Given the description of an element on the screen output the (x, y) to click on. 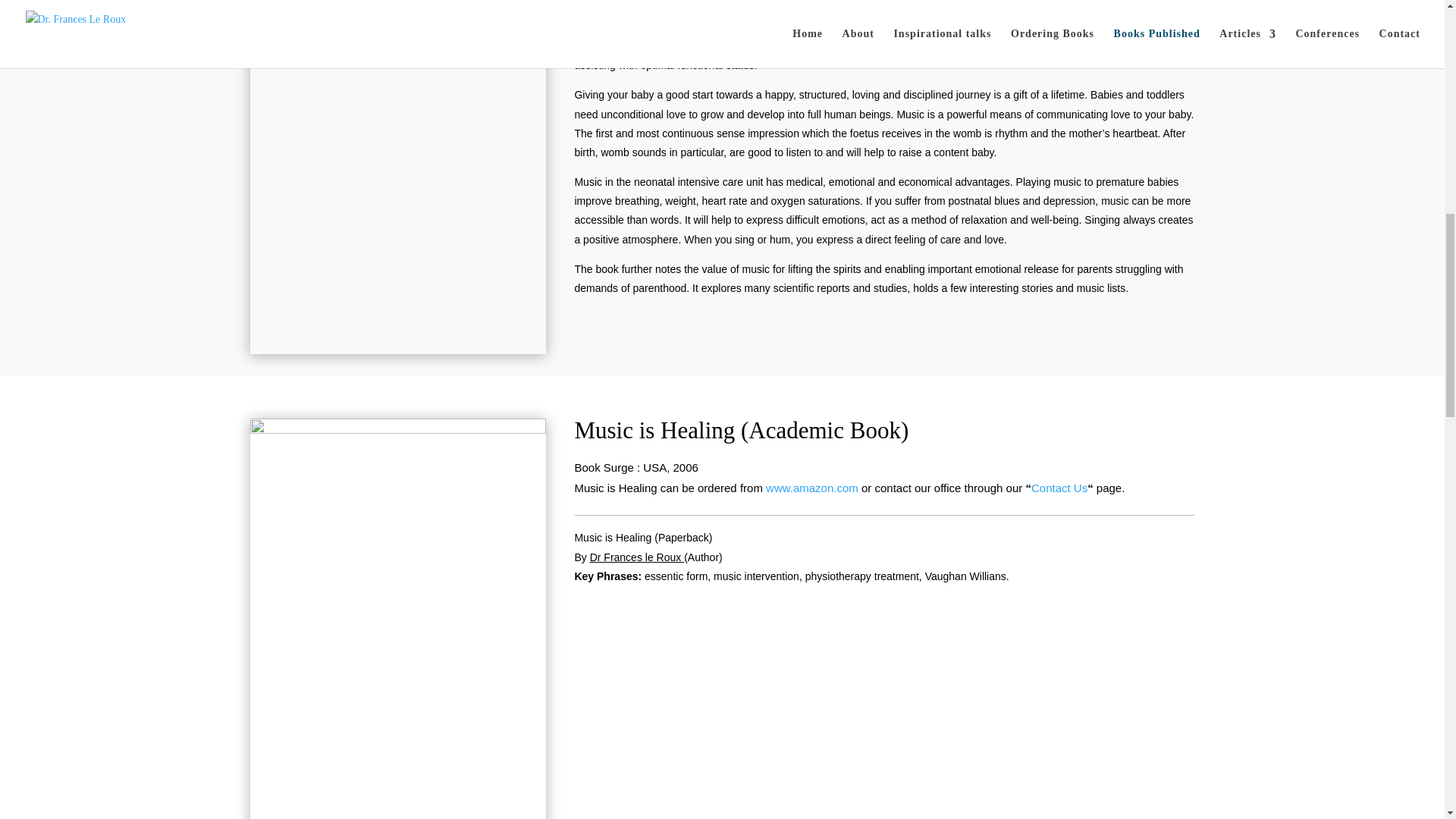
www.takealot.com (619, 1)
Contact Us (956, 1)
Music is Healing 1 (398, 429)
www.amazon.com (812, 487)
www.loot.co.za (717, 1)
Contact Us (1058, 487)
